Given the description of an element on the screen output the (x, y) to click on. 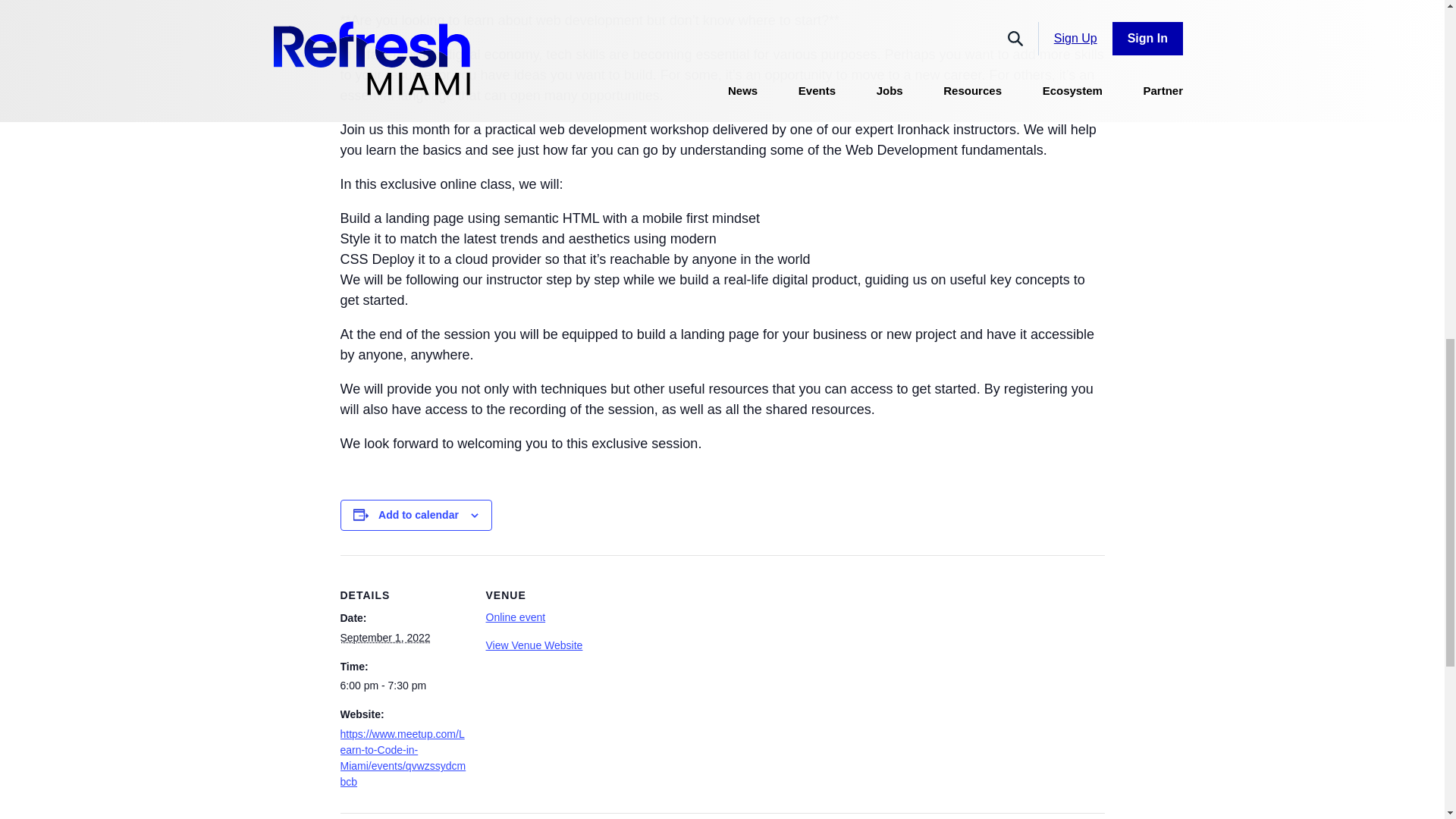
View Venue Website (533, 645)
2022-09-01 (403, 685)
Add to calendar (418, 514)
2022-09-01 (384, 637)
Online event (514, 616)
